Given the description of an element on the screen output the (x, y) to click on. 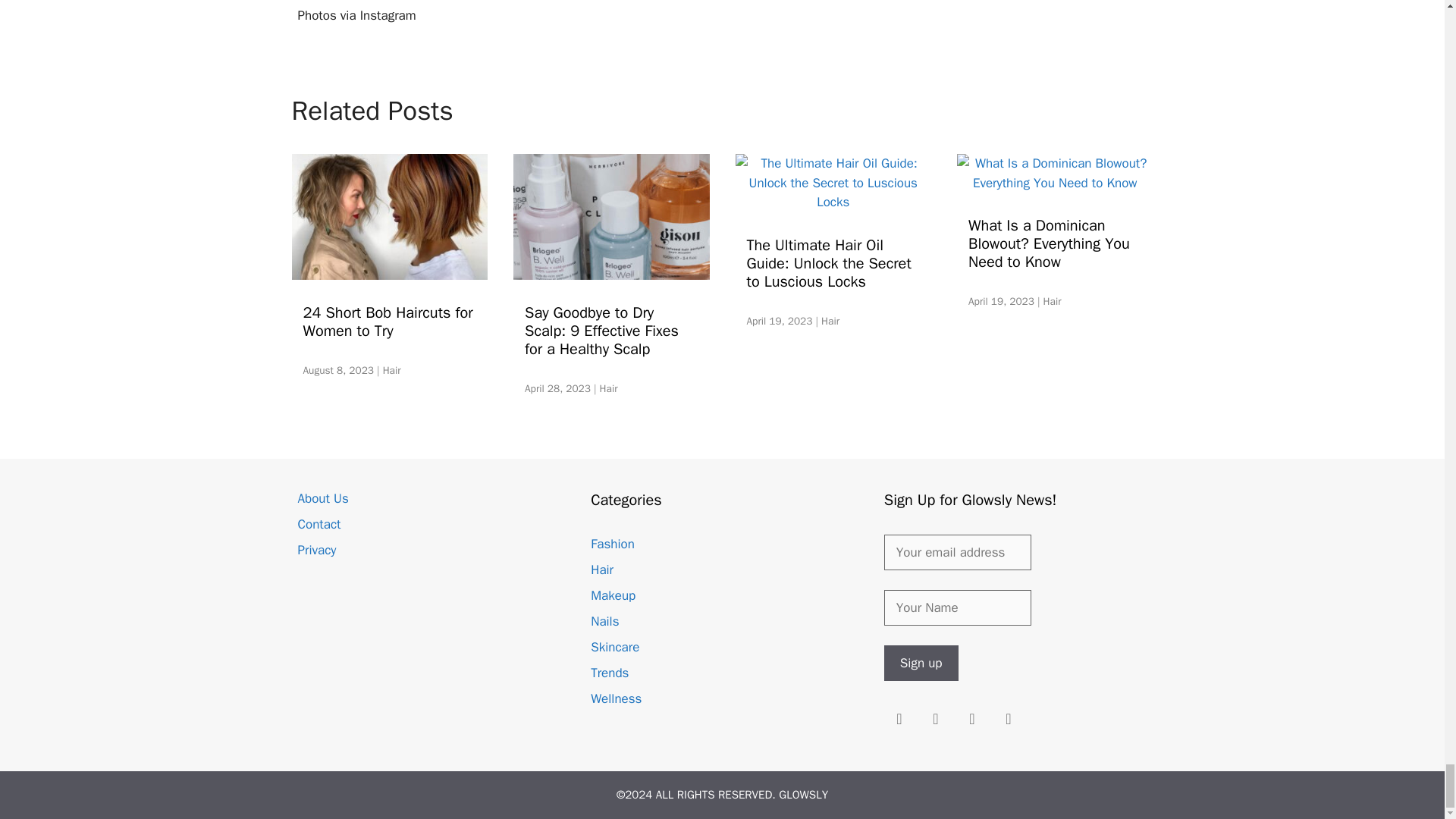
What Is a Dominican Blowout? Everything You Need to Know (1054, 182)
Instagram (898, 718)
4:10 pm (1000, 300)
Facebook (935, 718)
Pinterest (971, 718)
4:38 pm (778, 320)
Sign up (920, 663)
3:07 pm (557, 388)
8:55 pm (338, 369)
